Given the description of an element on the screen output the (x, y) to click on. 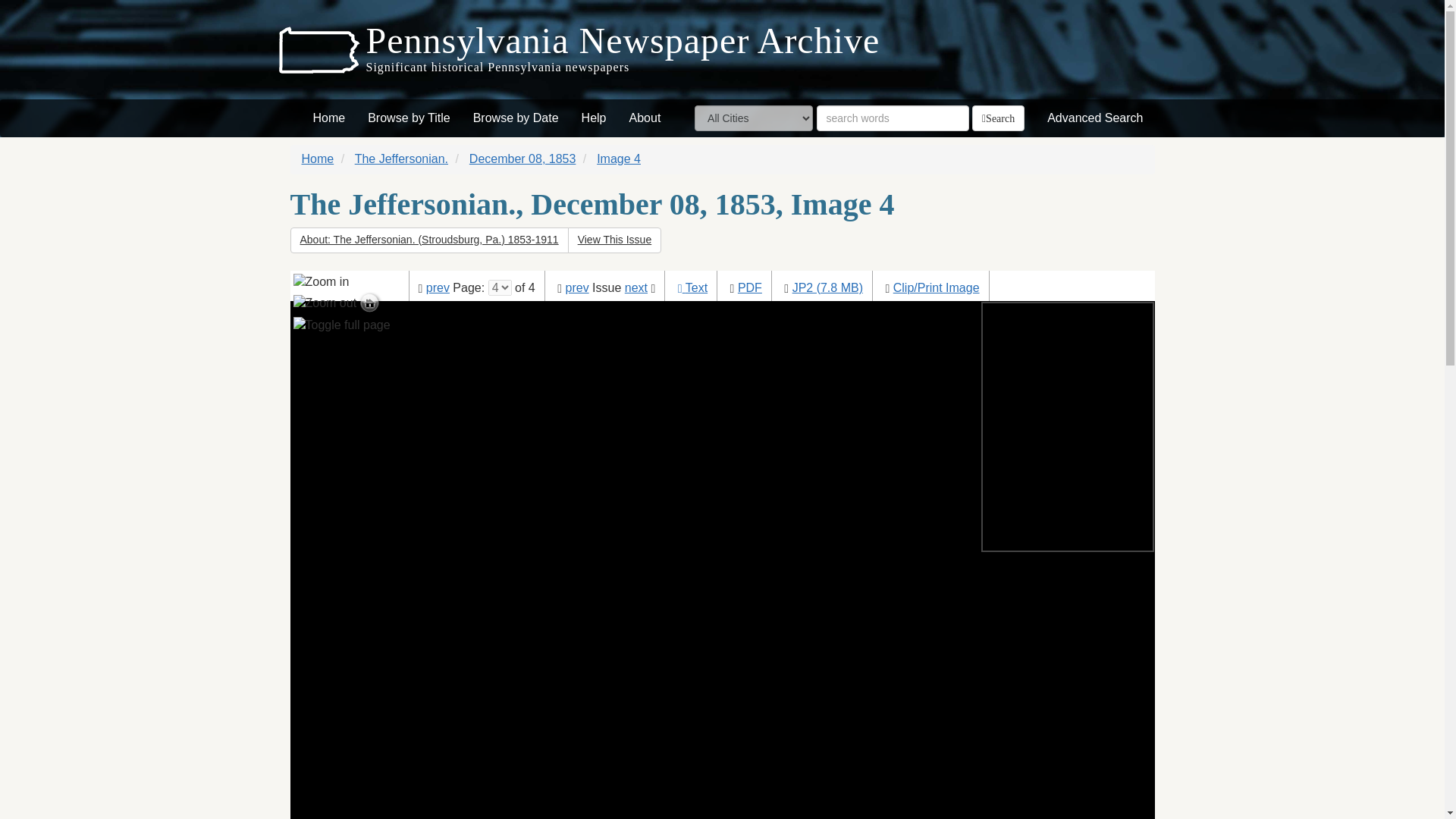
prev (577, 287)
Toggle full page (341, 325)
Text (696, 287)
The Jeffersonian. (401, 158)
Advanced Search (1094, 118)
December 08, 1853 (522, 158)
Home (317, 158)
Browse by Date (515, 118)
Search (998, 118)
Browse by Title (408, 118)
Zoom out (324, 303)
Go home (369, 303)
Help (593, 118)
prev (437, 287)
PDF (749, 287)
